Given the description of an element on the screen output the (x, y) to click on. 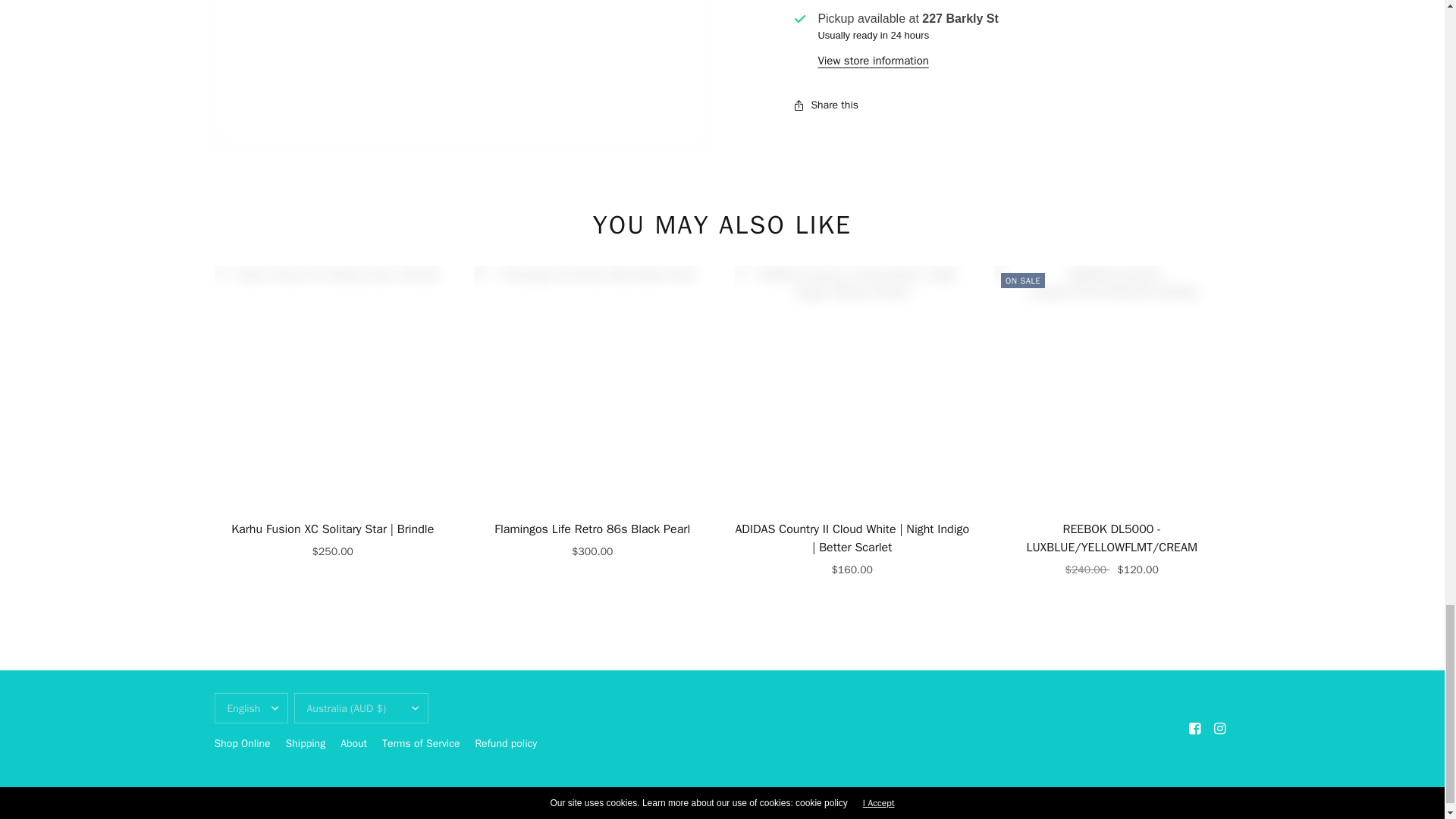
Shop Pay (1154, 795)
Google Pay (1060, 795)
Mastercard (1091, 795)
Union Pay (1186, 795)
PayPal (1123, 795)
American Express (1028, 795)
Visa (1218, 795)
